Given the description of an element on the screen output the (x, y) to click on. 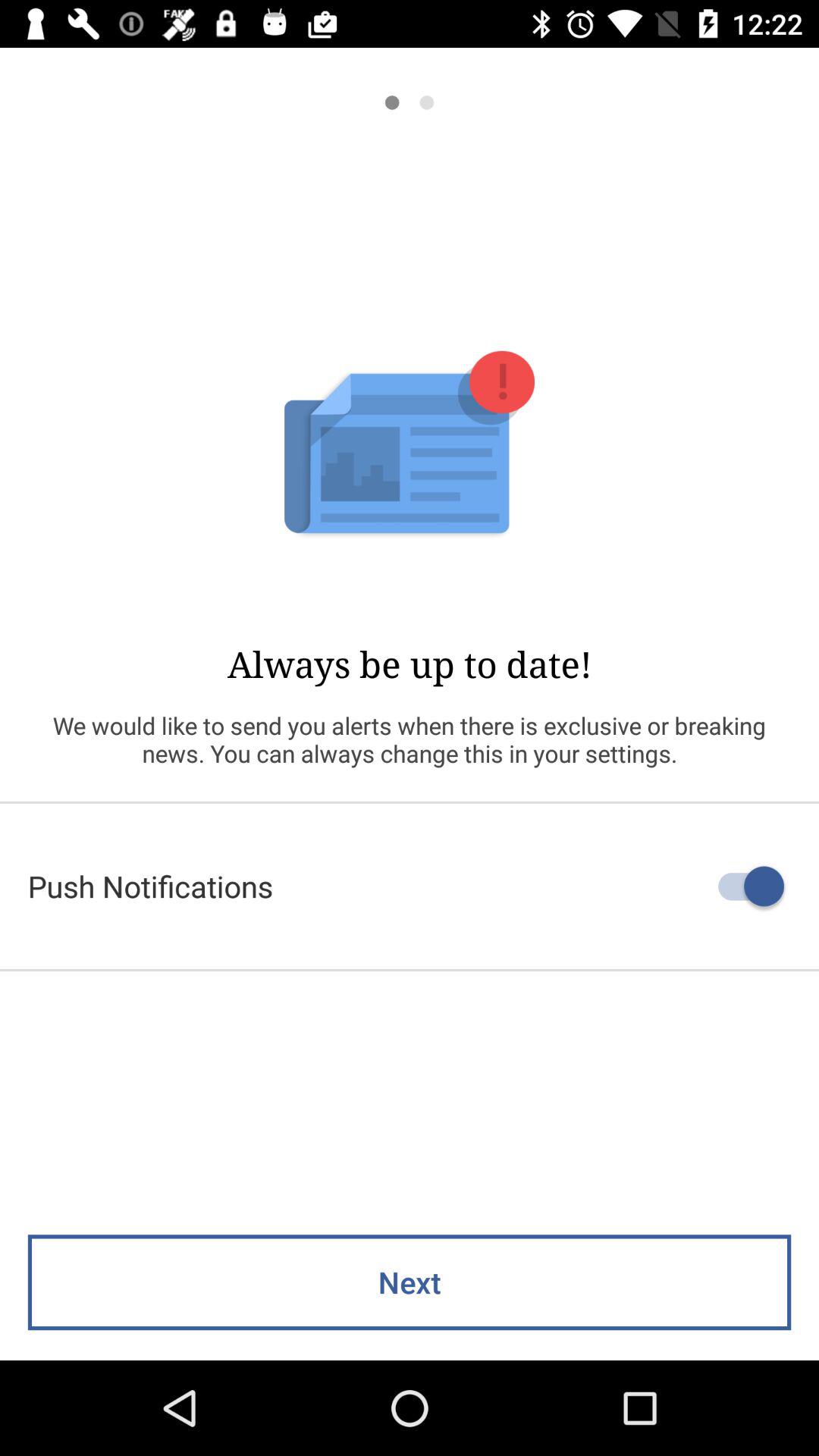
select the push notifications item (409, 886)
